Given the description of an element on the screen output the (x, y) to click on. 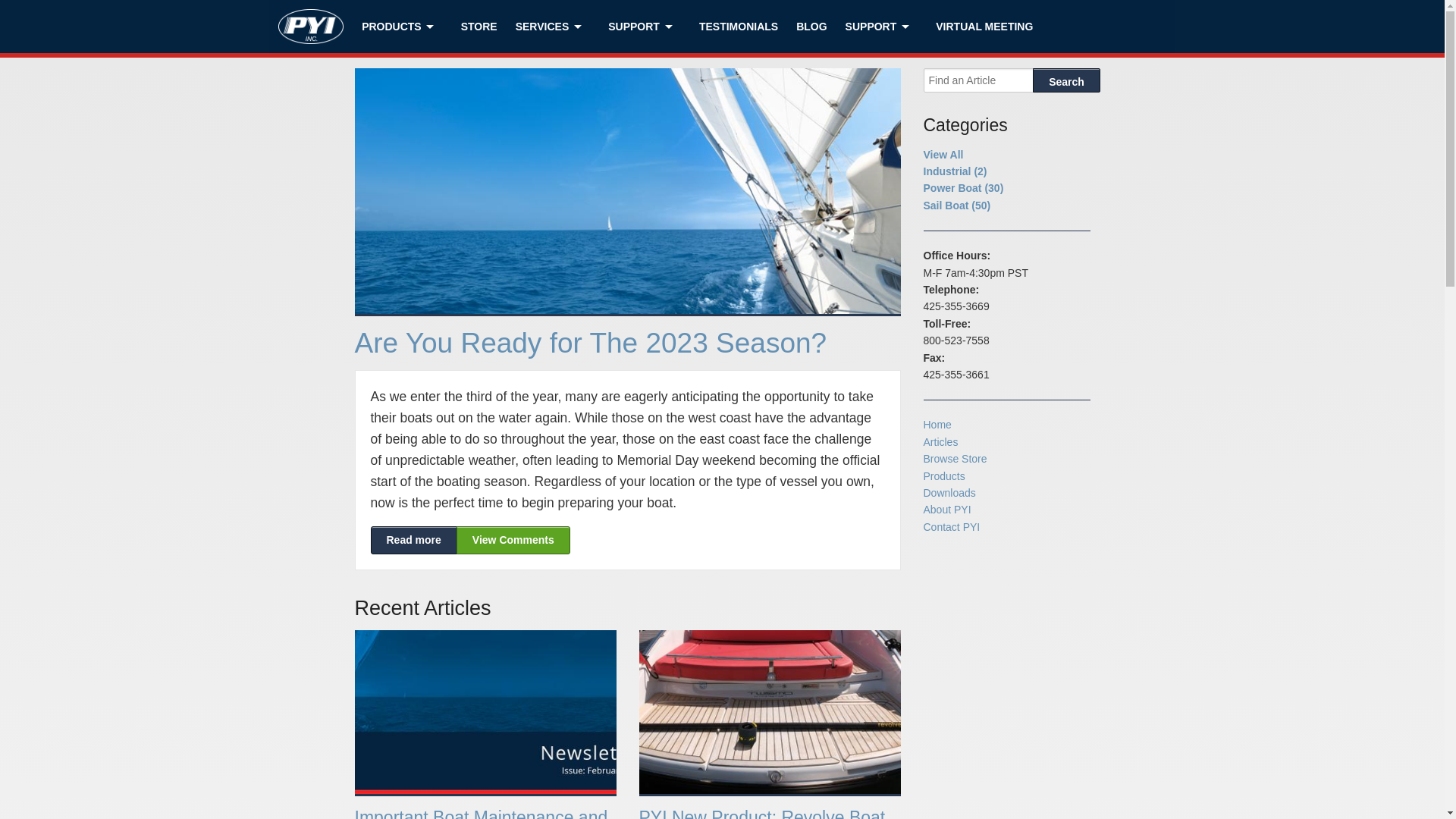
SUPPORT (644, 26)
Read about Are You Ready for The 2023 Season? (413, 540)
View Comments (513, 540)
SUPPORT (881, 26)
PRODUCTS (401, 26)
BLOG (811, 26)
STORE (478, 26)
Read about Are You Ready for The 2023 Season? (513, 540)
VIRTUAL MEETING (984, 26)
Read PYI New Product: Revolve Boat Hook - Now Available (762, 813)
